Given the description of an element on the screen output the (x, y) to click on. 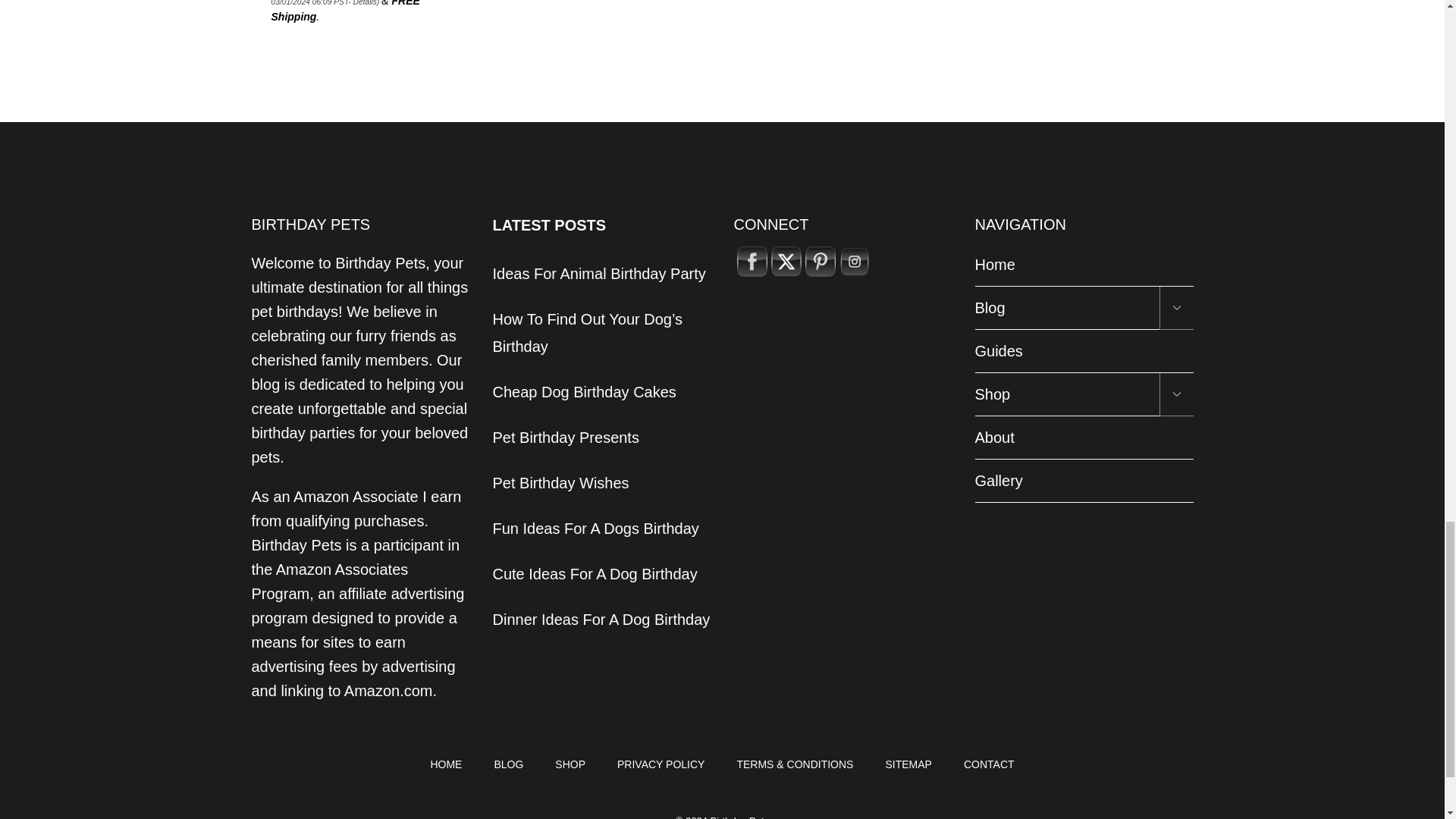
Facebook (751, 261)
Twitter (785, 261)
Pinterest (820, 261)
